Given the description of an element on the screen output the (x, y) to click on. 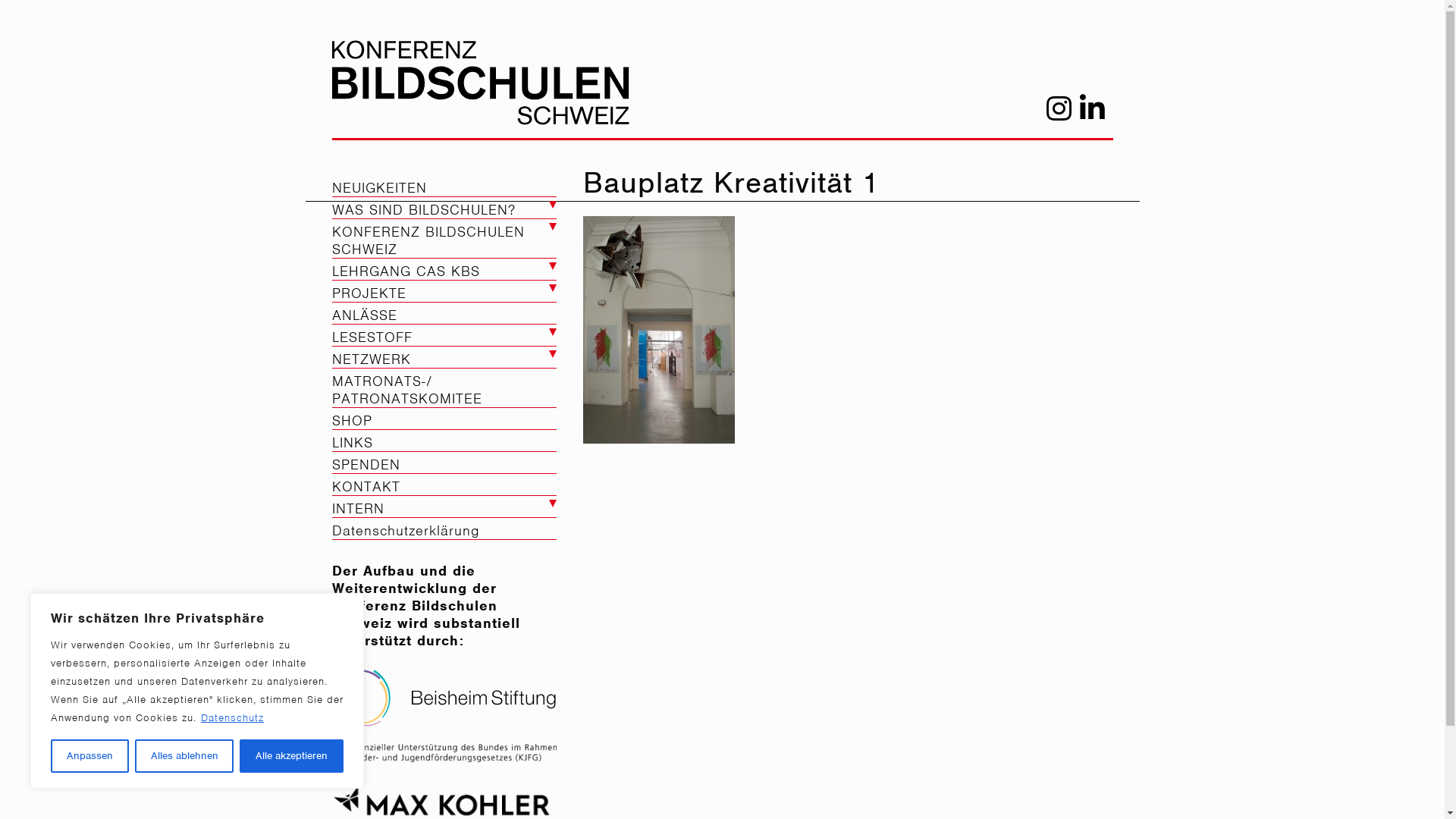
Datenschutz Element type: text (232, 717)
Alles ablehnen Element type: text (184, 755)
INTERN Element type: text (444, 508)
LEHRGANG CAS KBS Element type: text (444, 270)
LINKS Element type: text (444, 442)
Anpassen Element type: text (89, 755)
SPENDEN Element type: text (444, 464)
LESESTOFF Element type: text (444, 336)
NEUIGKEITEN Element type: text (444, 187)
KONTAKT Element type: text (444, 486)
NETZWERK Element type: text (444, 358)
MATRONATS-/ PATRONATSKOMITEE Element type: text (444, 389)
SHOP Element type: text (444, 420)
Alle akzeptieren Element type: text (291, 755)
WAS SIND BILDSCHULEN? Element type: text (444, 209)
KONFERENZ BILDSCHULEN SCHWEIZ Element type: text (444, 239)
PROJEKTE Element type: text (444, 292)
